Given the description of an element on the screen output the (x, y) to click on. 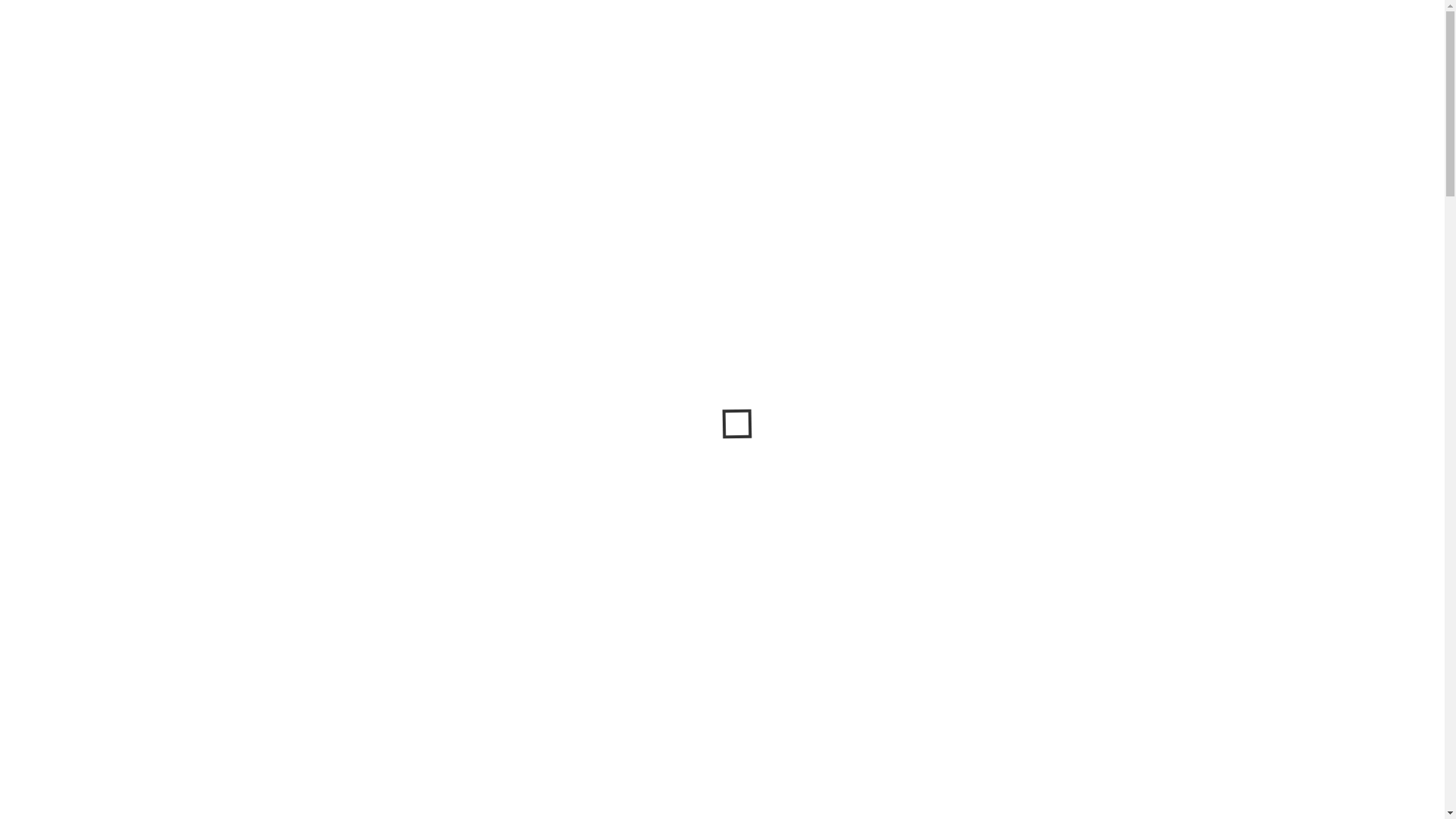
VOLUNTEER Element type: text (241, 295)
ABOUT Element type: text (100, 295)
HOME Element type: text (47, 295)
Donate now Element type: text (722, 379)
Search Element type: text (1422, 19)
CONTACT Element type: text (318, 295)
SERVICES Element type: text (164, 295)
